Given the description of an element on the screen output the (x, y) to click on. 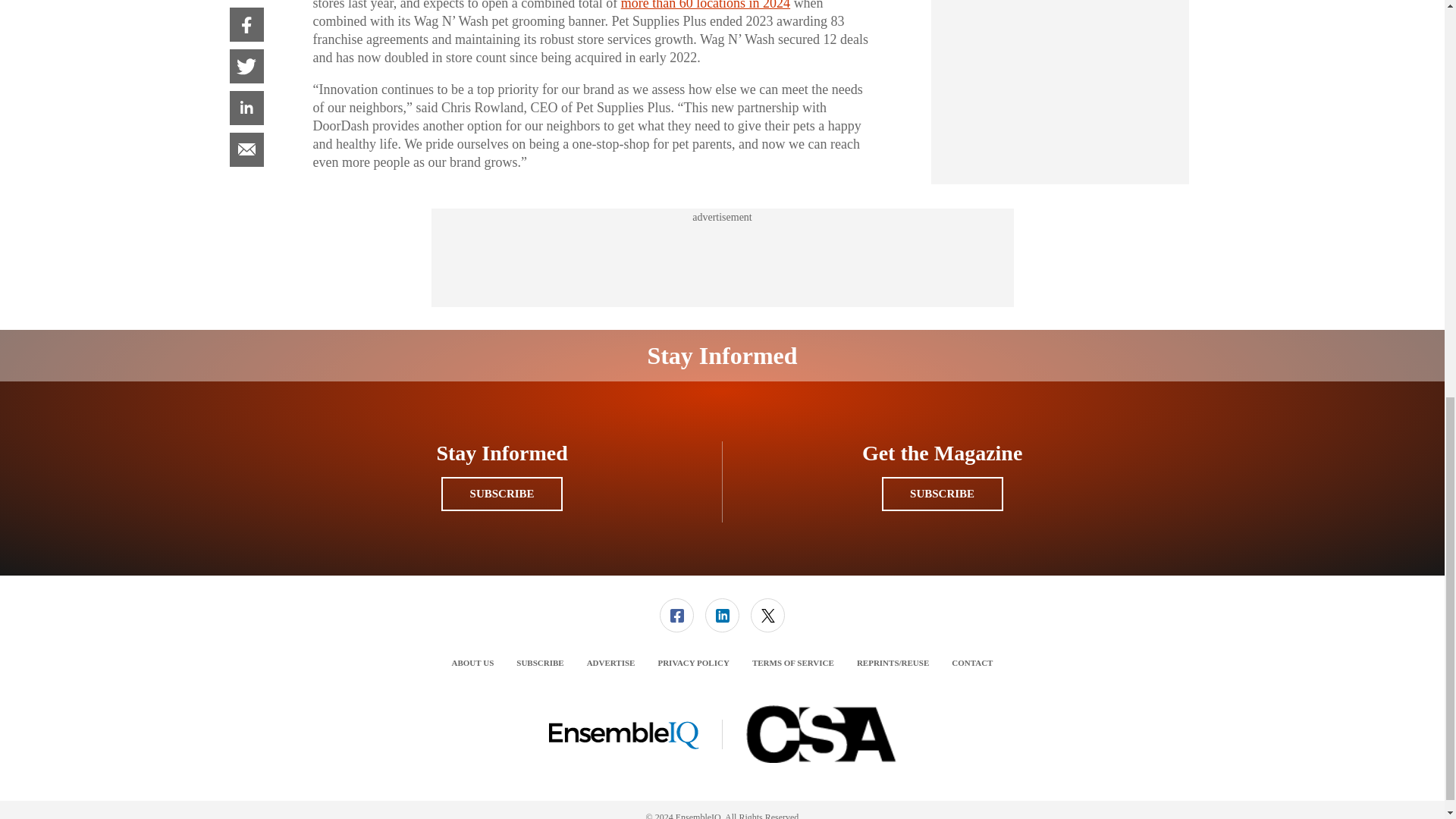
more than 60 locations in 2024 (705, 5)
SUBSCRIBE (501, 493)
SUBSCRIBE (539, 662)
ABOUT US (473, 662)
SUBSCRIBE (942, 493)
